Given the description of an element on the screen output the (x, y) to click on. 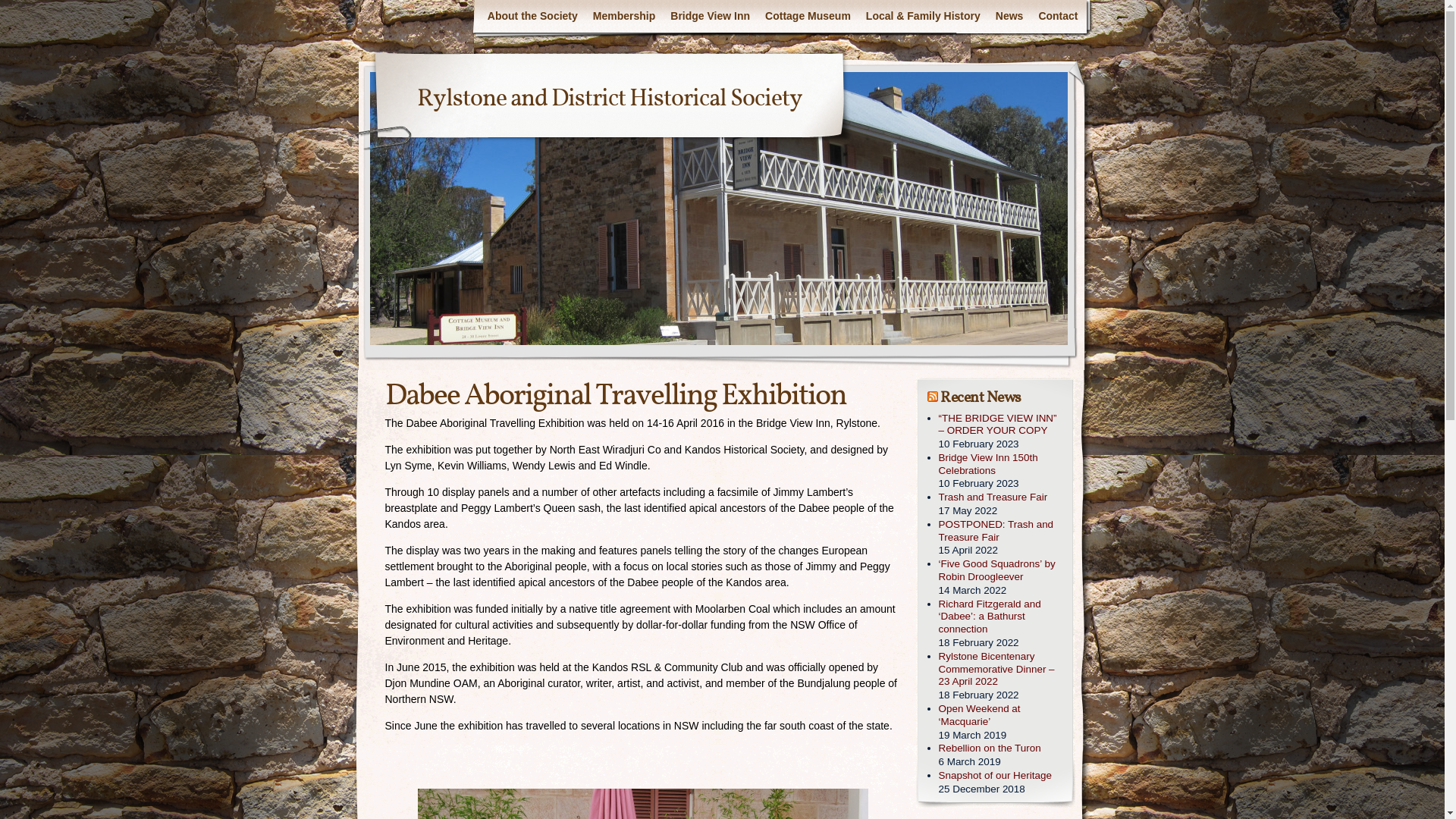
Bridge View Inn 150th Celebrations Element type: text (1000, 464)
Bridge View Inn Element type: text (709, 16)
Rylstone and District Historical Society Element type: text (609, 99)
Cottage Museum Element type: text (807, 16)
Recent News Element type: text (980, 396)
POSTPONED: Trash and Treasure Fair Element type: text (1000, 531)
Contact Element type: text (1057, 16)
News Element type: text (1009, 16)
Trash and Treasure Fair Element type: text (1000, 497)
About the Society Element type: text (532, 16)
Local & Family History Element type: text (923, 16)
Rebellion on the Turon Element type: text (1000, 748)
Snapshot of our Heritage Element type: text (1000, 775)
Membership Element type: text (623, 16)
